Given the description of an element on the screen output the (x, y) to click on. 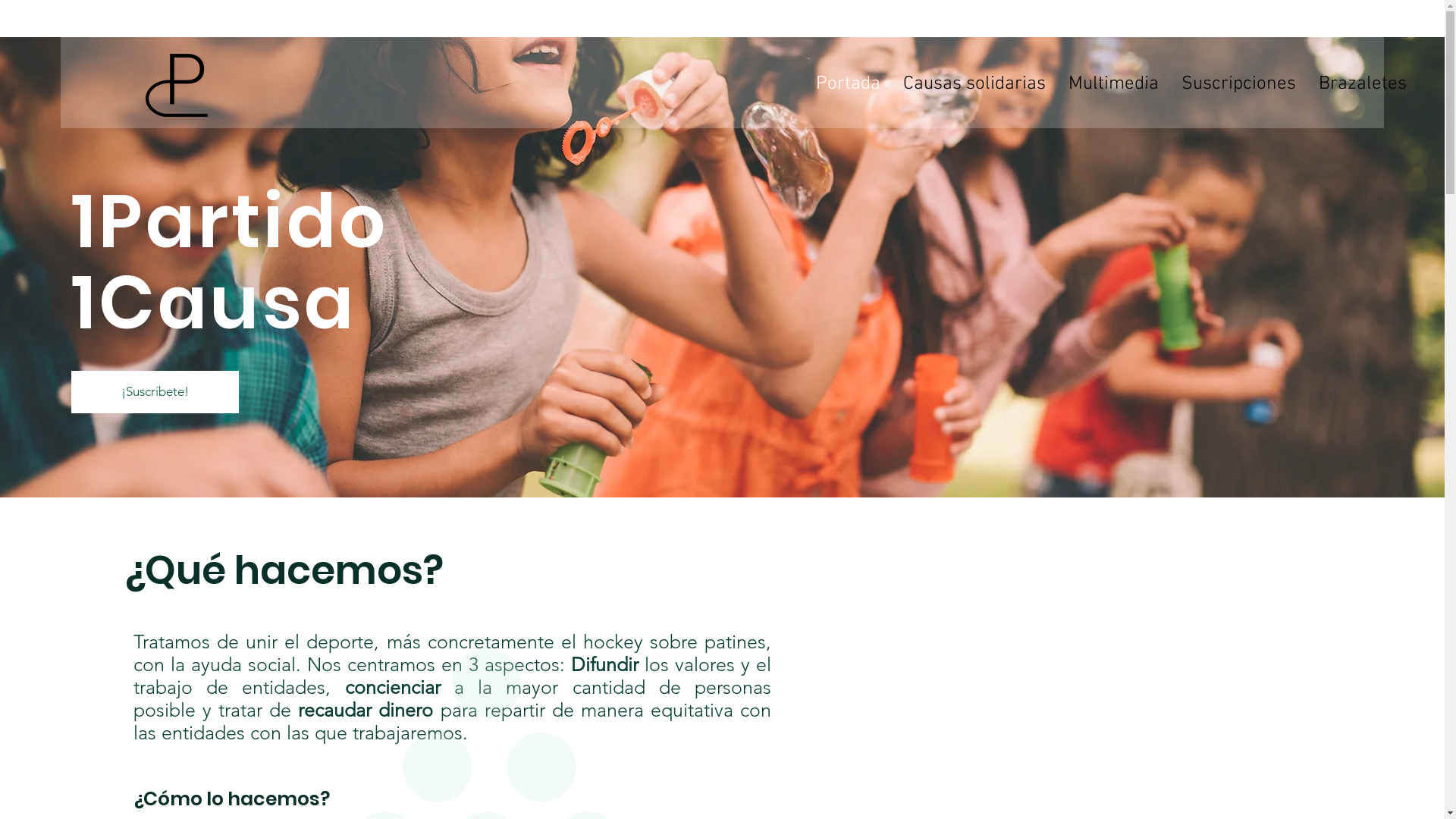
Brazaletes Element type: text (1362, 83)
Causas solidarias Element type: text (974, 83)
Multimedia Element type: text (1113, 83)
Portada Element type: text (847, 83)
Suscripciones Element type: text (1238, 83)
